Given the description of an element on the screen output the (x, y) to click on. 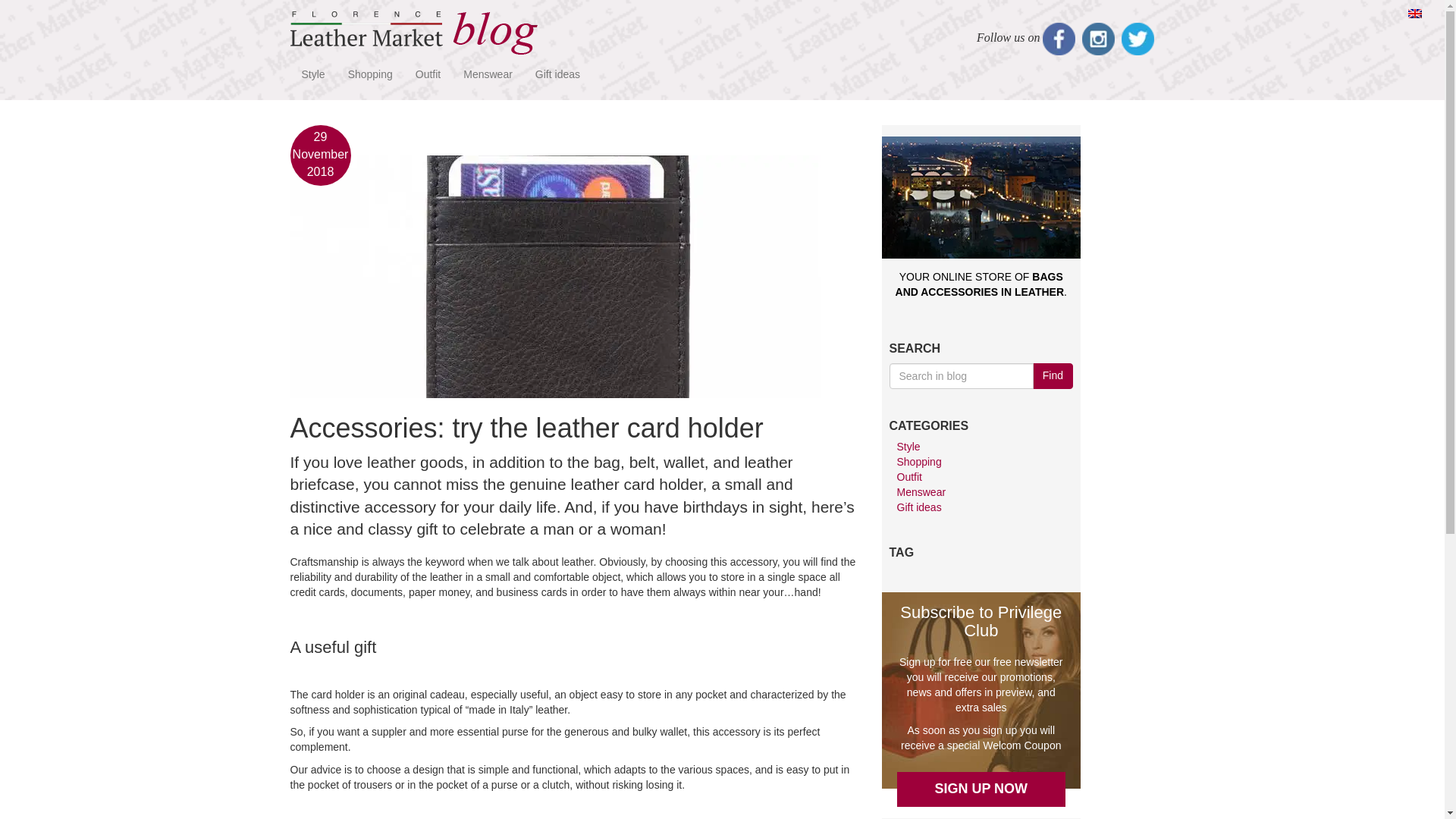
Style (312, 74)
Outfit (427, 74)
Find (1052, 376)
Menswear (920, 491)
Shopping (918, 461)
Gift ideas (557, 74)
Shopping (370, 74)
SIGN UP NOW (980, 788)
Outfit (908, 476)
Menswear (487, 74)
Gift ideas (918, 507)
YOUR ONLINE STORE OF BAGS AND ACCESSORIES IN LEATHER. (980, 251)
Style (908, 446)
